Given the description of an element on the screen output the (x, y) to click on. 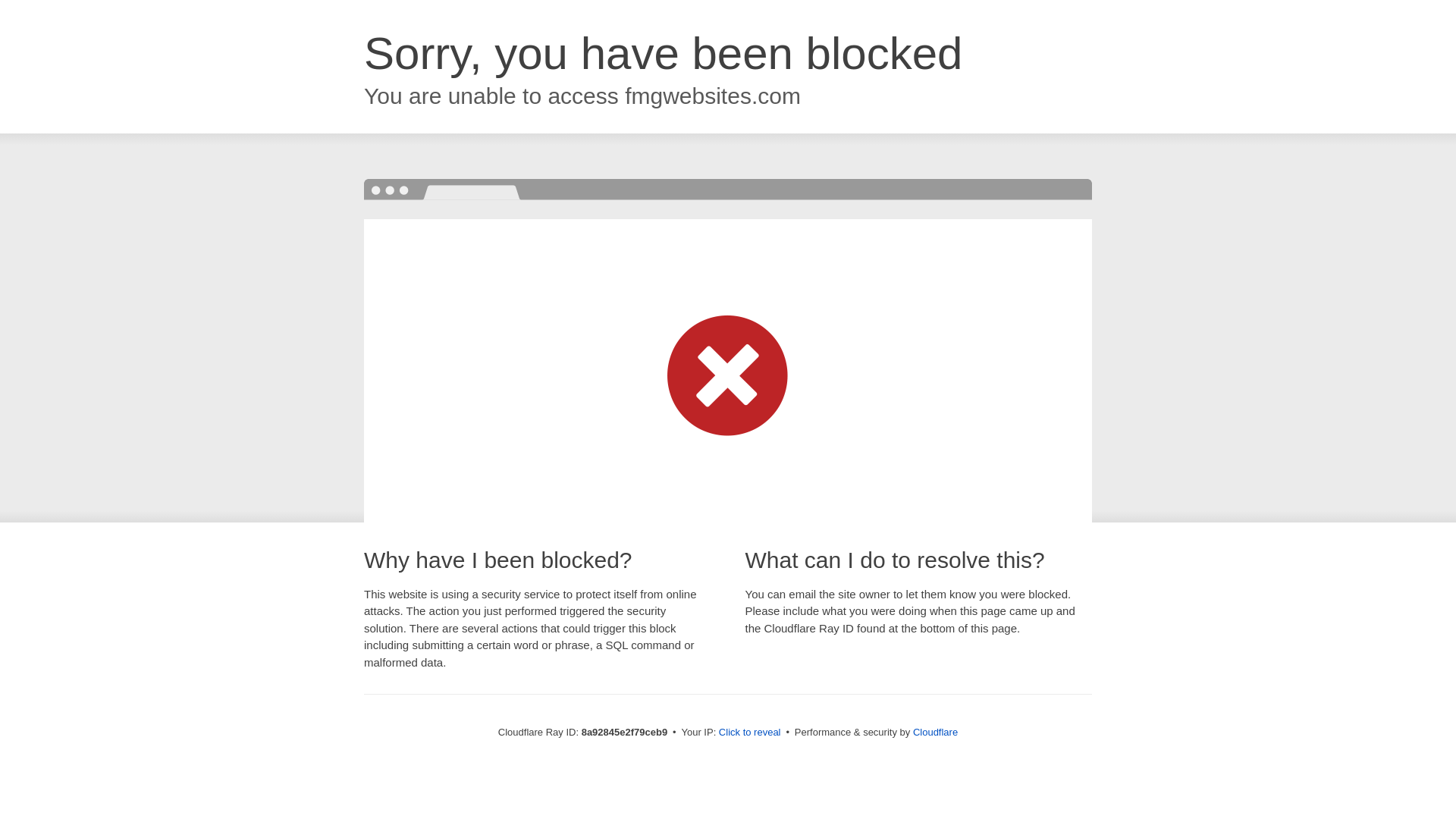
Cloudflare (935, 731)
Click to reveal (749, 732)
